Given the description of an element on the screen output the (x, y) to click on. 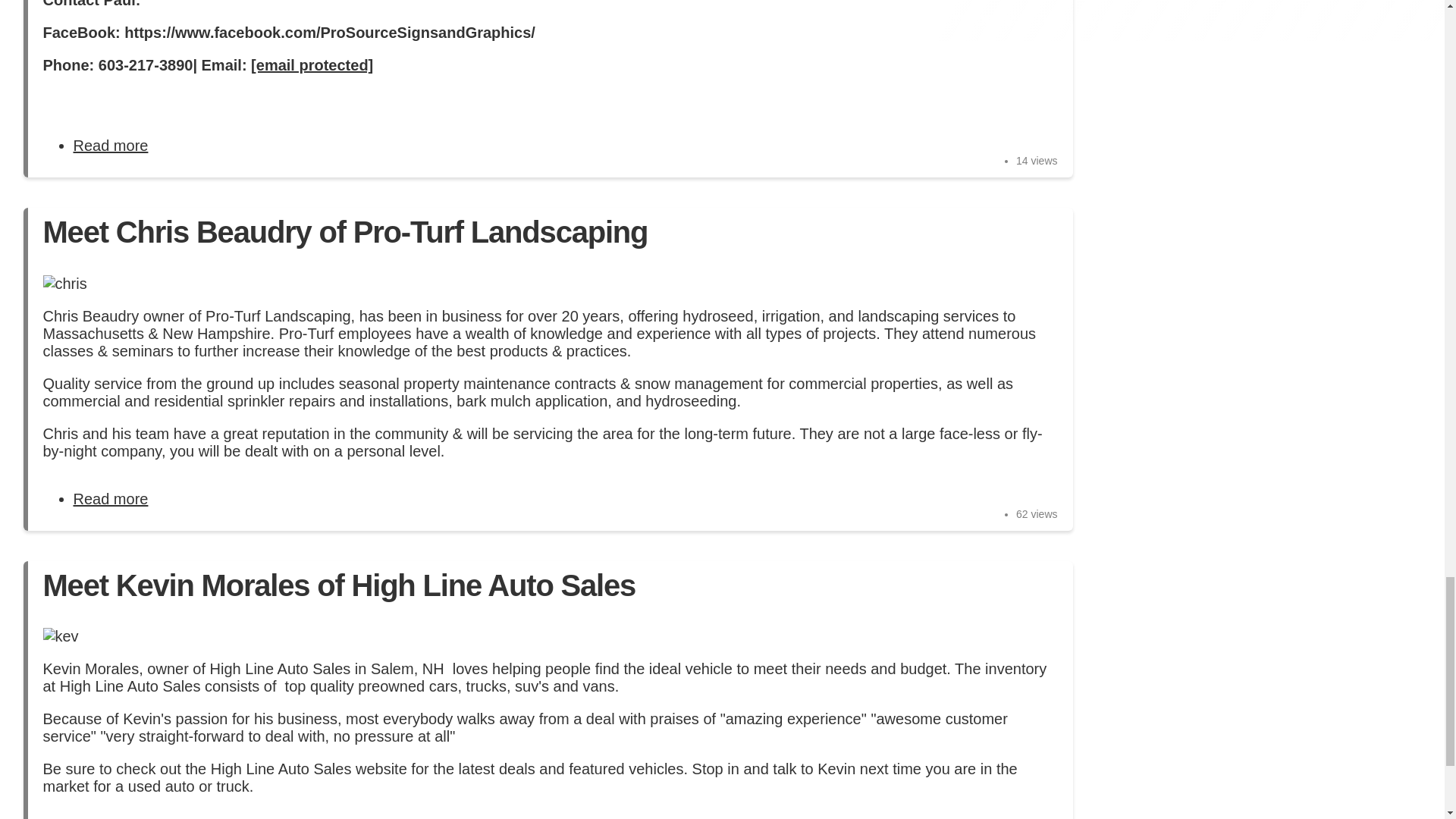
kev (60, 636)
Meet Chris Beaudry of Pro-Turf Landscaping  (110, 498)
Meet Chris Beaudry of Pro-Turf Landscaping (110, 498)
